Given the description of an element on the screen output the (x, y) to click on. 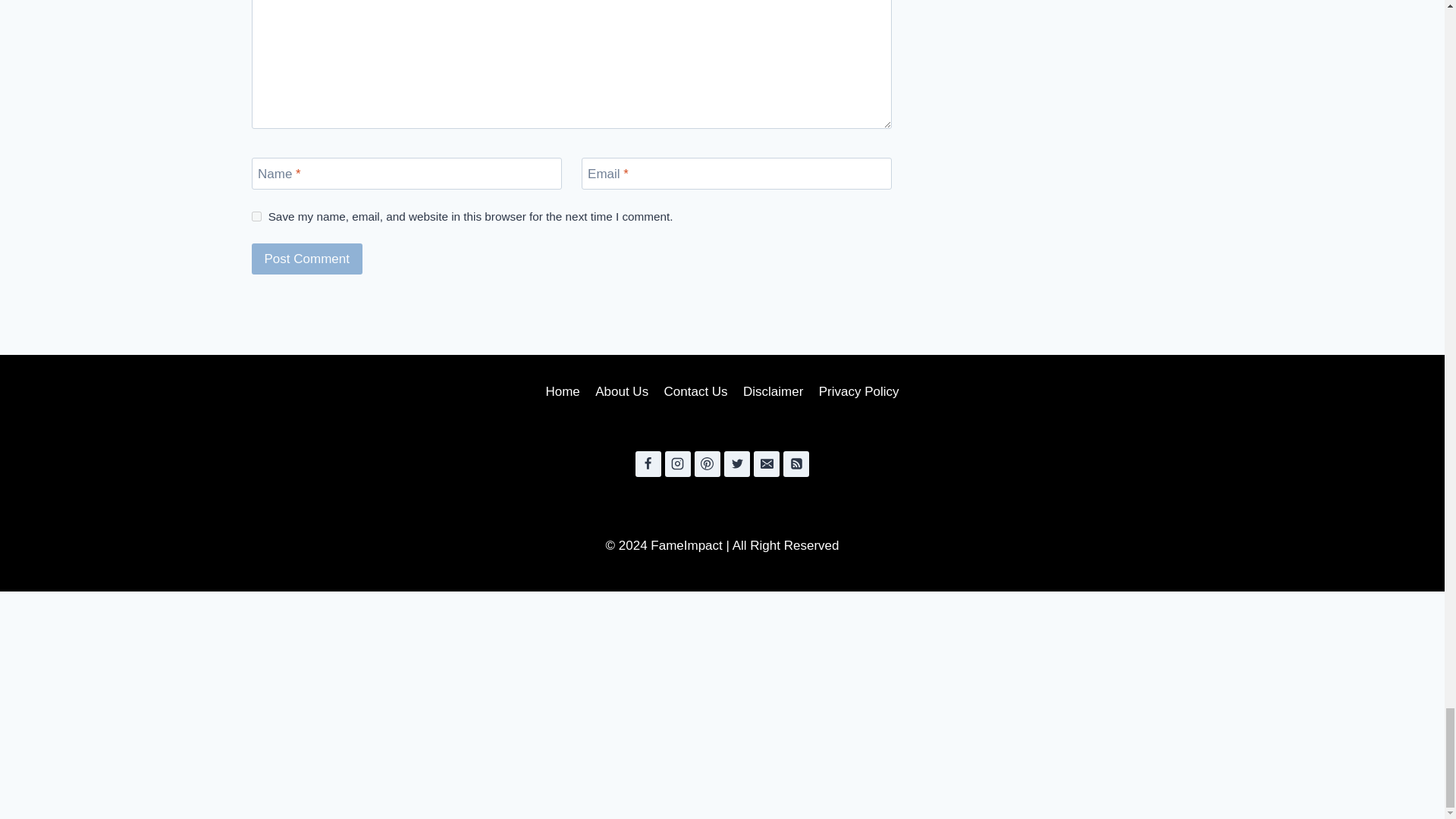
yes (256, 216)
Post Comment (306, 258)
